Given the description of an element on the screen output the (x, y) to click on. 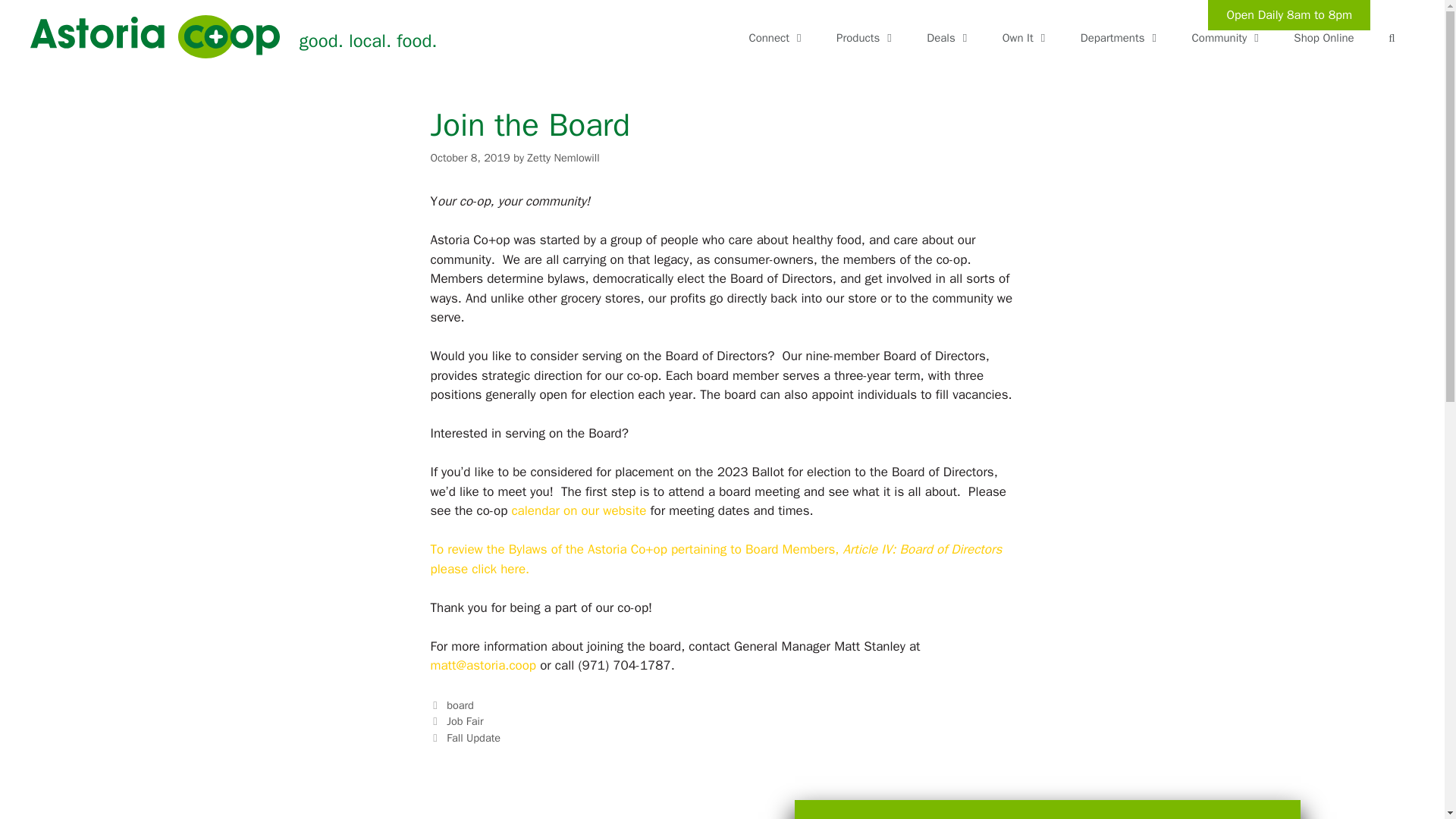
Connect (777, 37)
Departments (1120, 37)
Deals (949, 37)
Community (1227, 37)
Own It (1026, 37)
Products (866, 37)
View all posts by Zetty Nemlowill (562, 157)
